Given the description of an element on the screen output the (x, y) to click on. 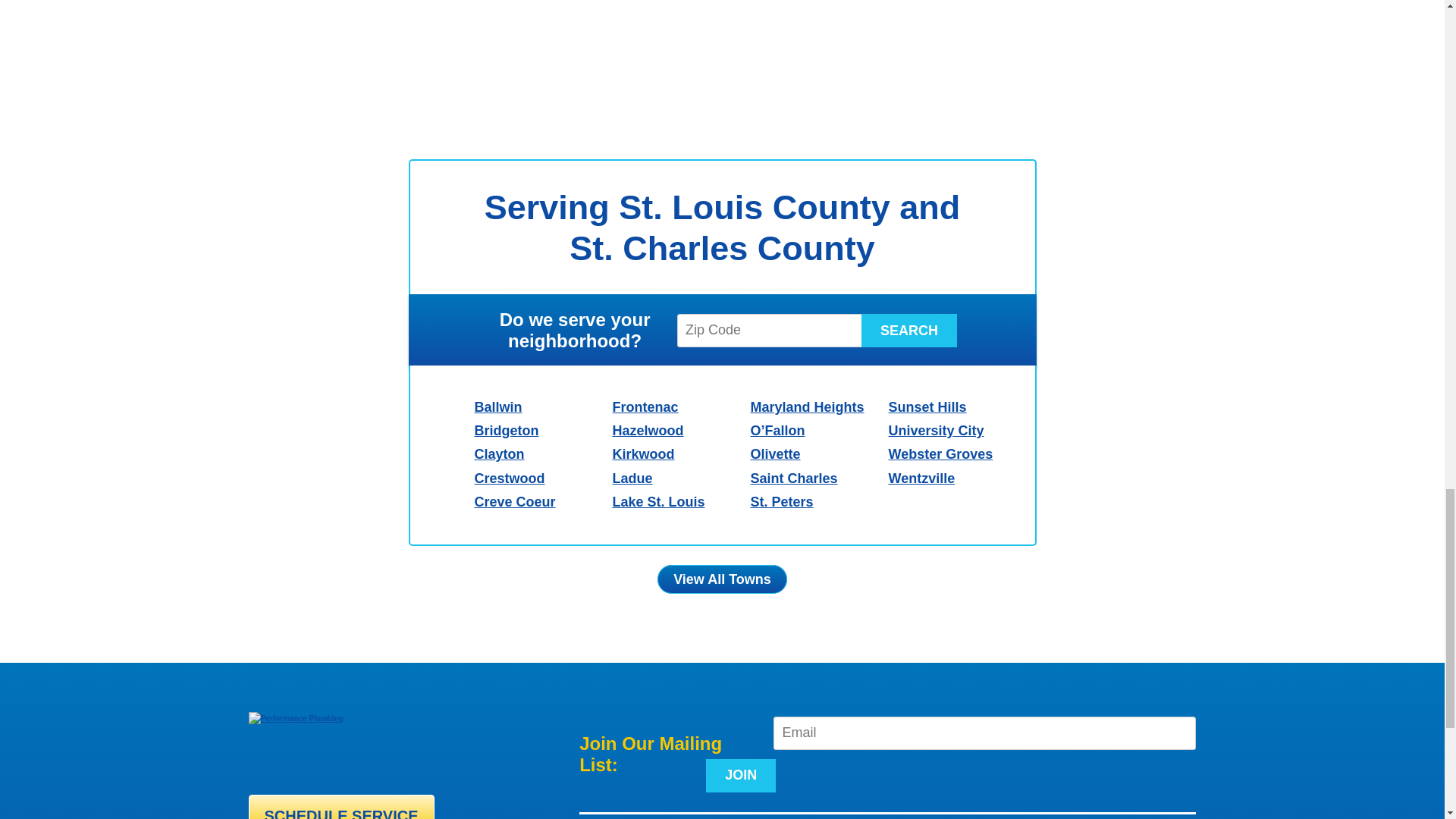
Search (908, 330)
